Given the description of an element on the screen output the (x, y) to click on. 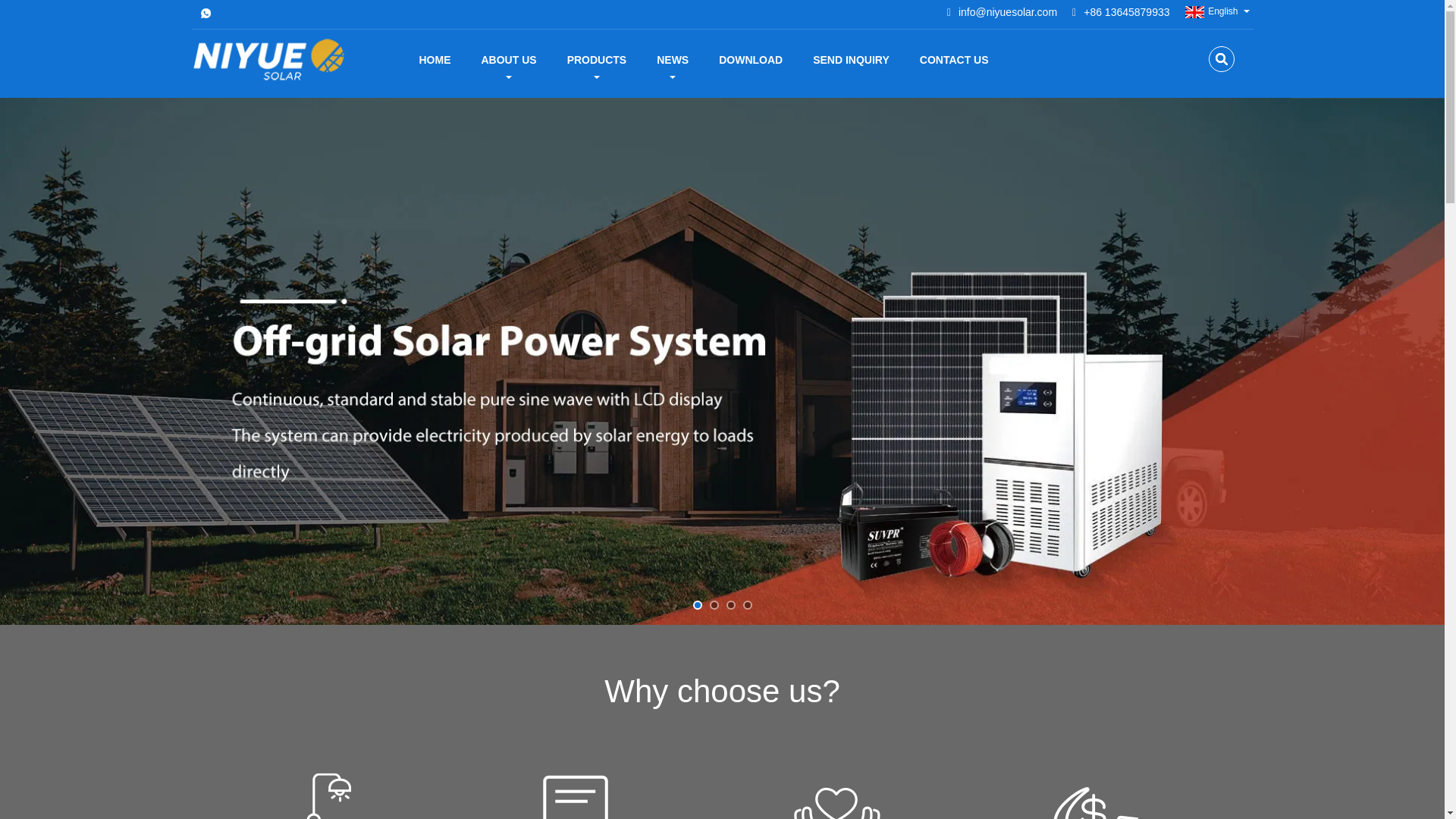
English (1209, 10)
English (1209, 10)
